Given the description of an element on the screen output the (x, y) to click on. 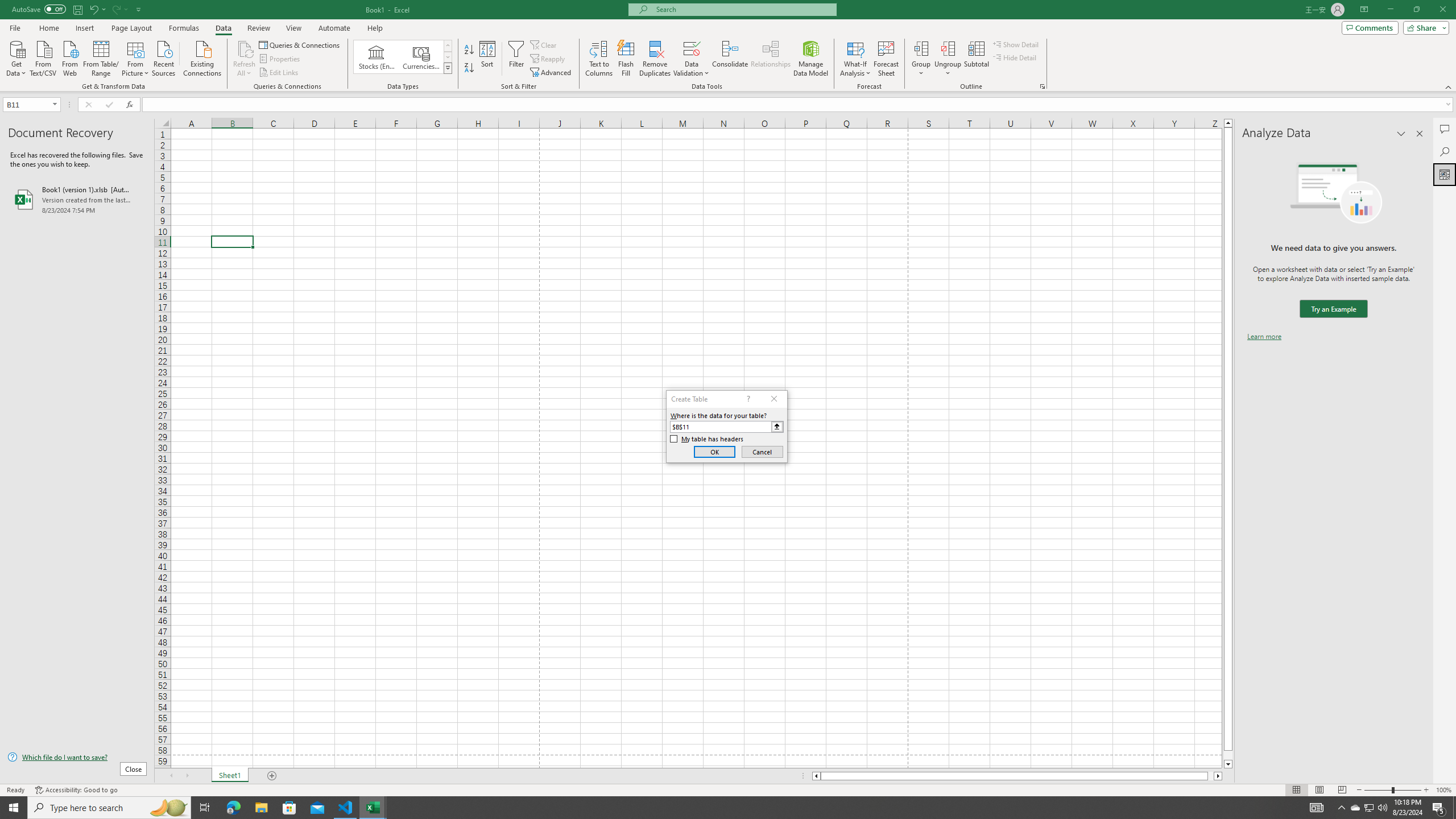
We need data to give you answers. Try an Example (1333, 308)
